Given the description of an element on the screen output the (x, y) to click on. 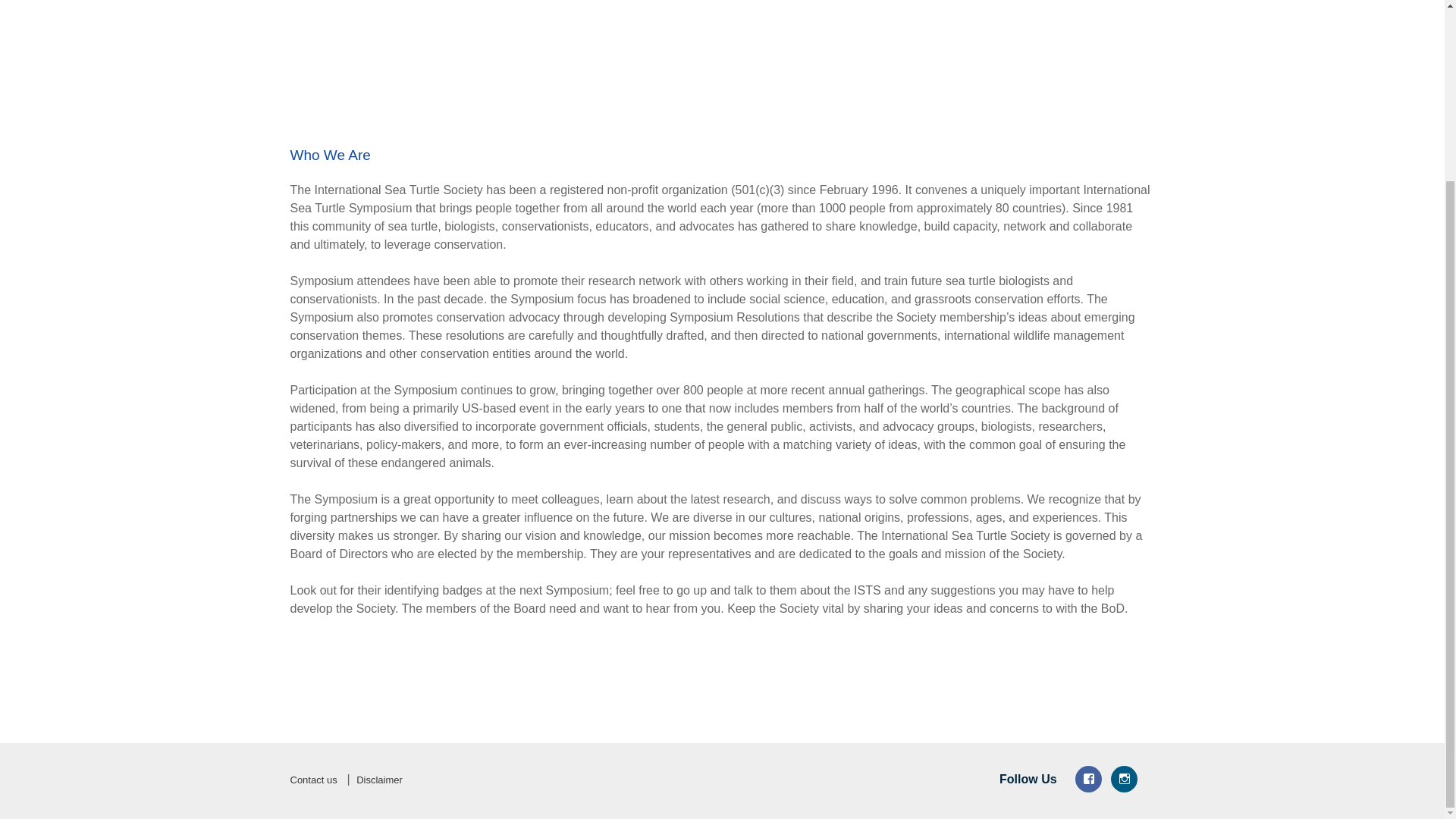
Instagram (1123, 778)
Contact us (312, 779)
Disclaimer (379, 779)
Facebook (1088, 778)
